Given the description of an element on the screen output the (x, y) to click on. 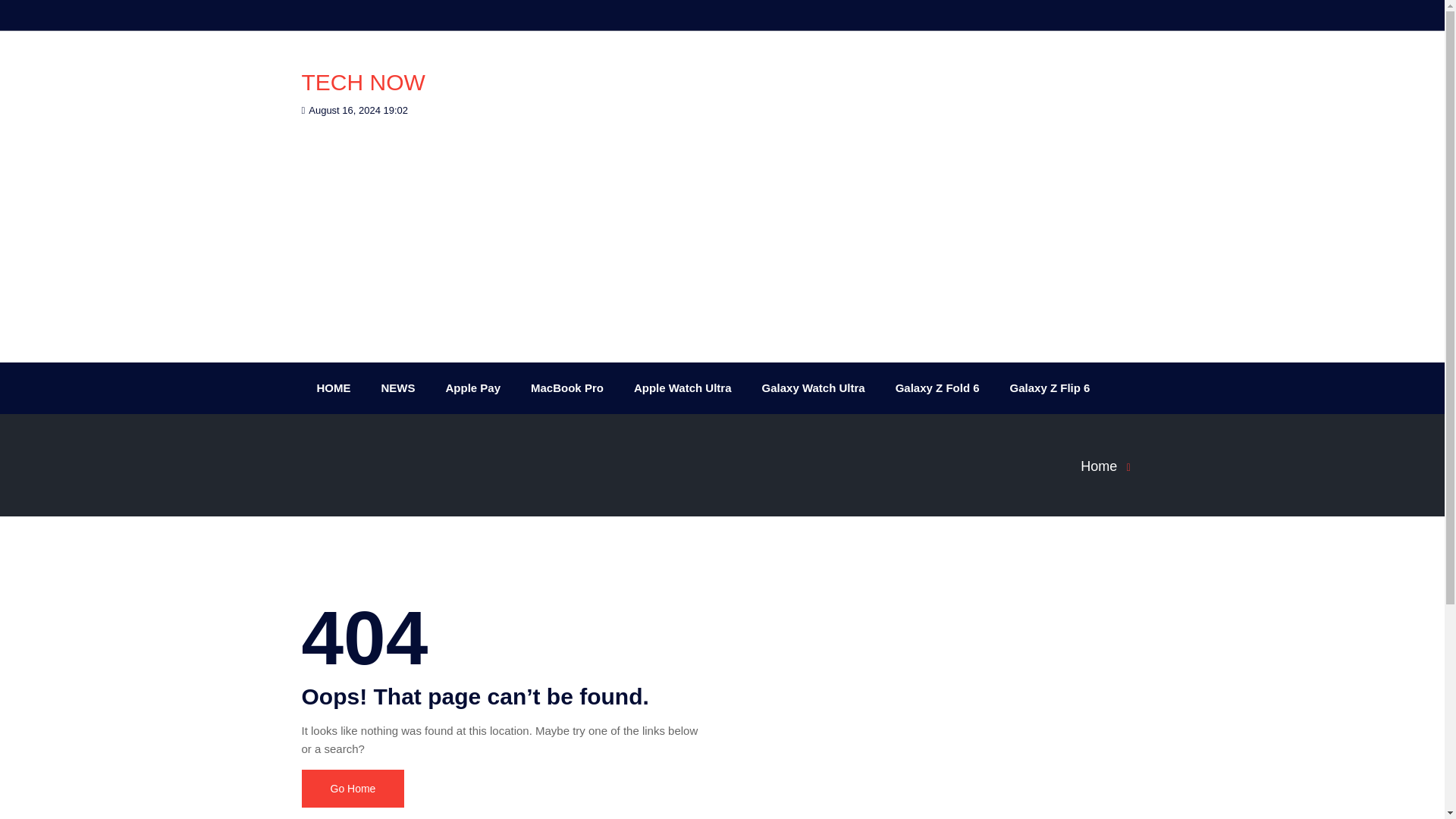
Home (1110, 466)
Galaxy Z Fold 6 (937, 388)
Apple Pay (473, 388)
HOME (333, 388)
TECH NOW (363, 82)
Galaxy Z Flip 6 (1049, 388)
Galaxy Watch Ultra (813, 388)
Galaxy Z Fold 6 (937, 388)
MacBook Pro (566, 388)
NEWS (397, 388)
